Given the description of an element on the screen output the (x, y) to click on. 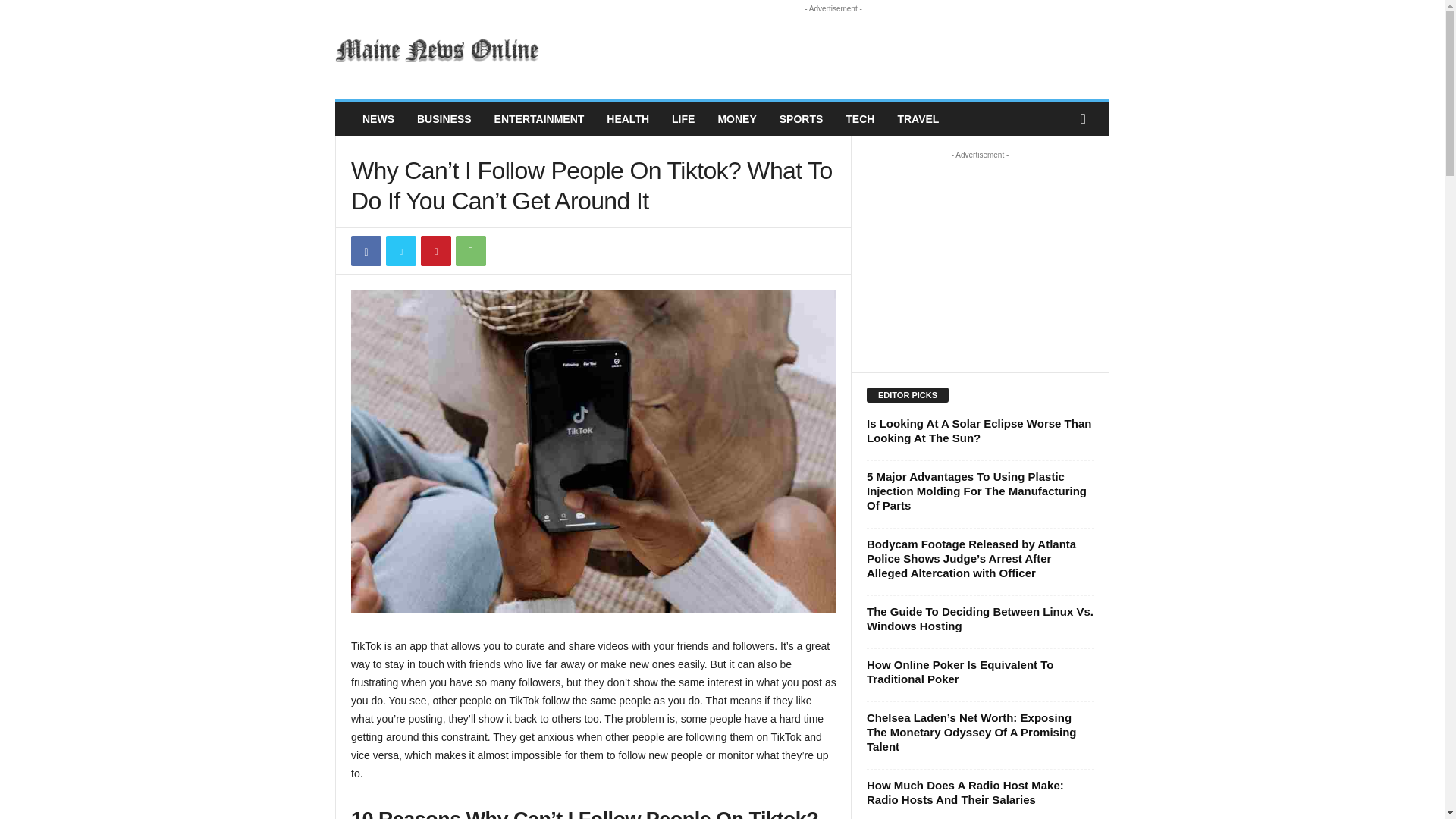
HEALTH (628, 118)
Advertisement (833, 49)
MONEY (736, 118)
TRAVEL (917, 118)
NEWS (378, 118)
ENTERTAINMENT (539, 118)
Twitter (400, 250)
Pinterest (435, 250)
TECH (859, 118)
BUSINESS (444, 118)
Facebook (365, 250)
SPORTS (801, 118)
LIFE (683, 118)
WhatsApp (470, 250)
Maine News Online (437, 49)
